Given the description of an element on the screen output the (x, y) to click on. 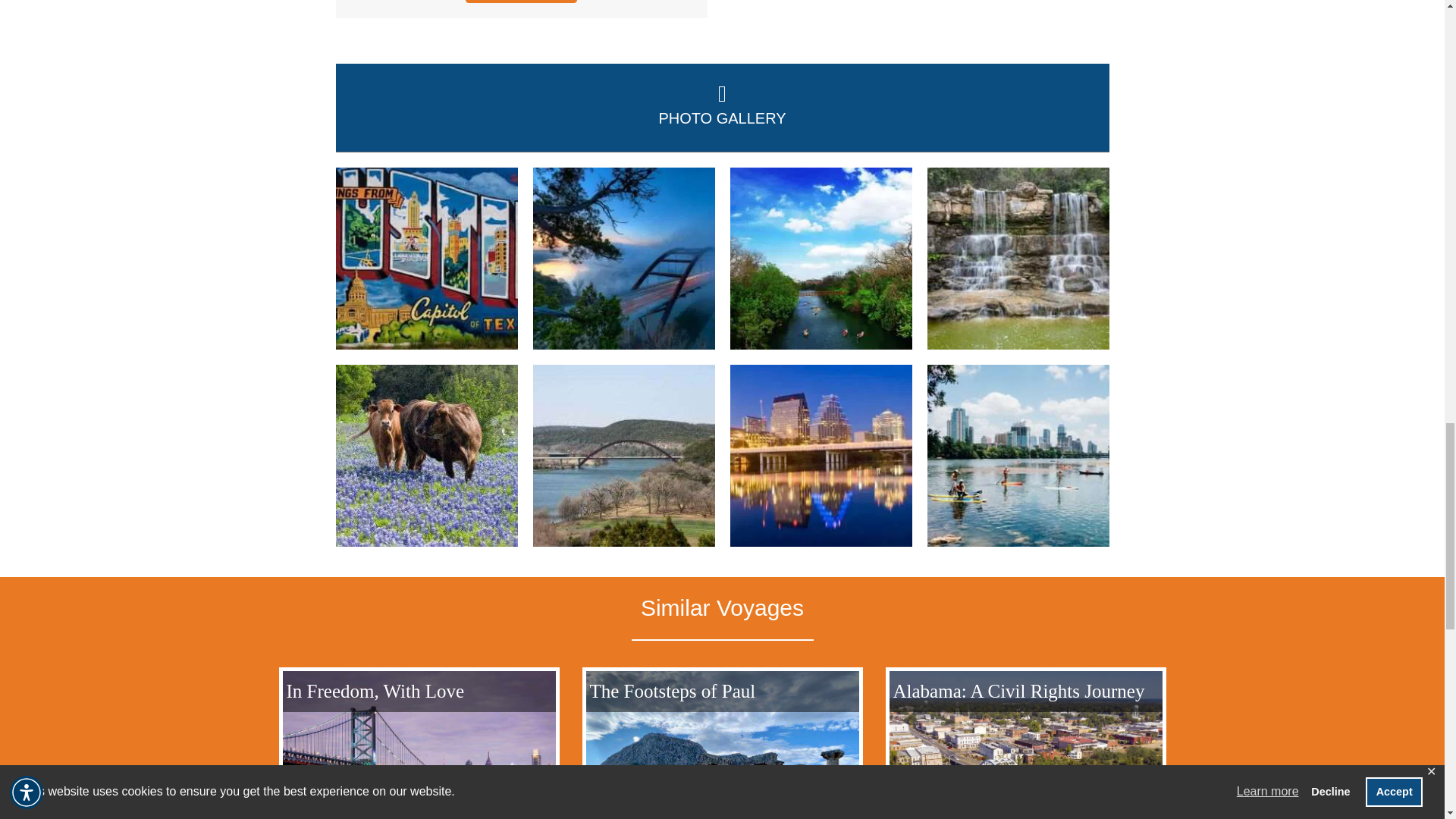
austin51 (623, 455)
Downtown view of Austin over the water (1017, 455)
Greetings from Austin! (425, 258)
austin52 (820, 455)
austin11 (820, 258)
austin72 (425, 455)
austin42 (623, 258)
austin31 (1017, 258)
Click Here (520, 1)
